Given the description of an element on the screen output the (x, y) to click on. 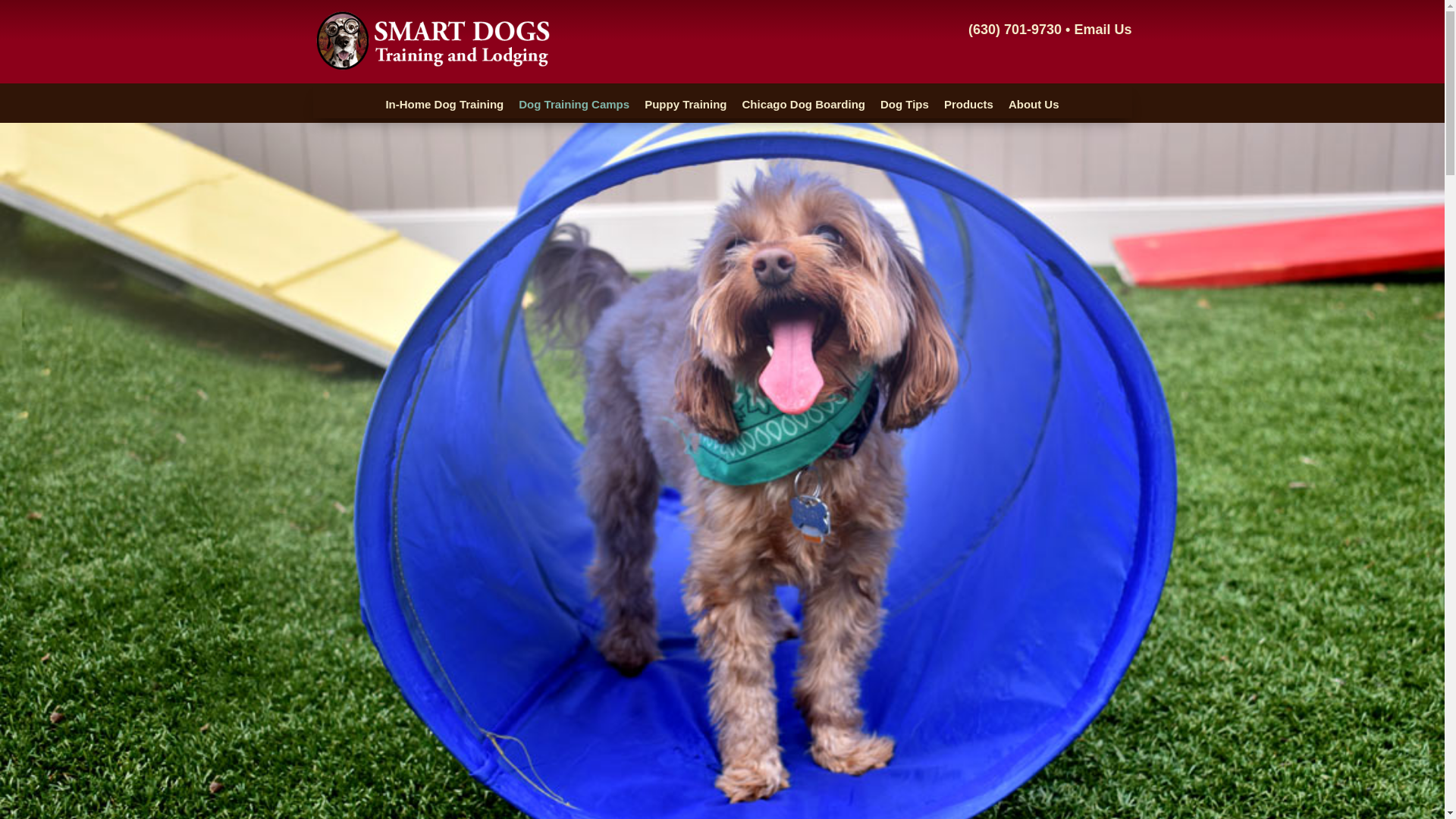
Chicago Dog Boarding (802, 104)
Puppy Training (685, 104)
Email Us (1102, 29)
About Us (1034, 104)
Dog Training Camps (574, 104)
Products (968, 104)
In-Home Dog Training (444, 104)
Dog Tips (904, 104)
